Given the description of an element on the screen output the (x, y) to click on. 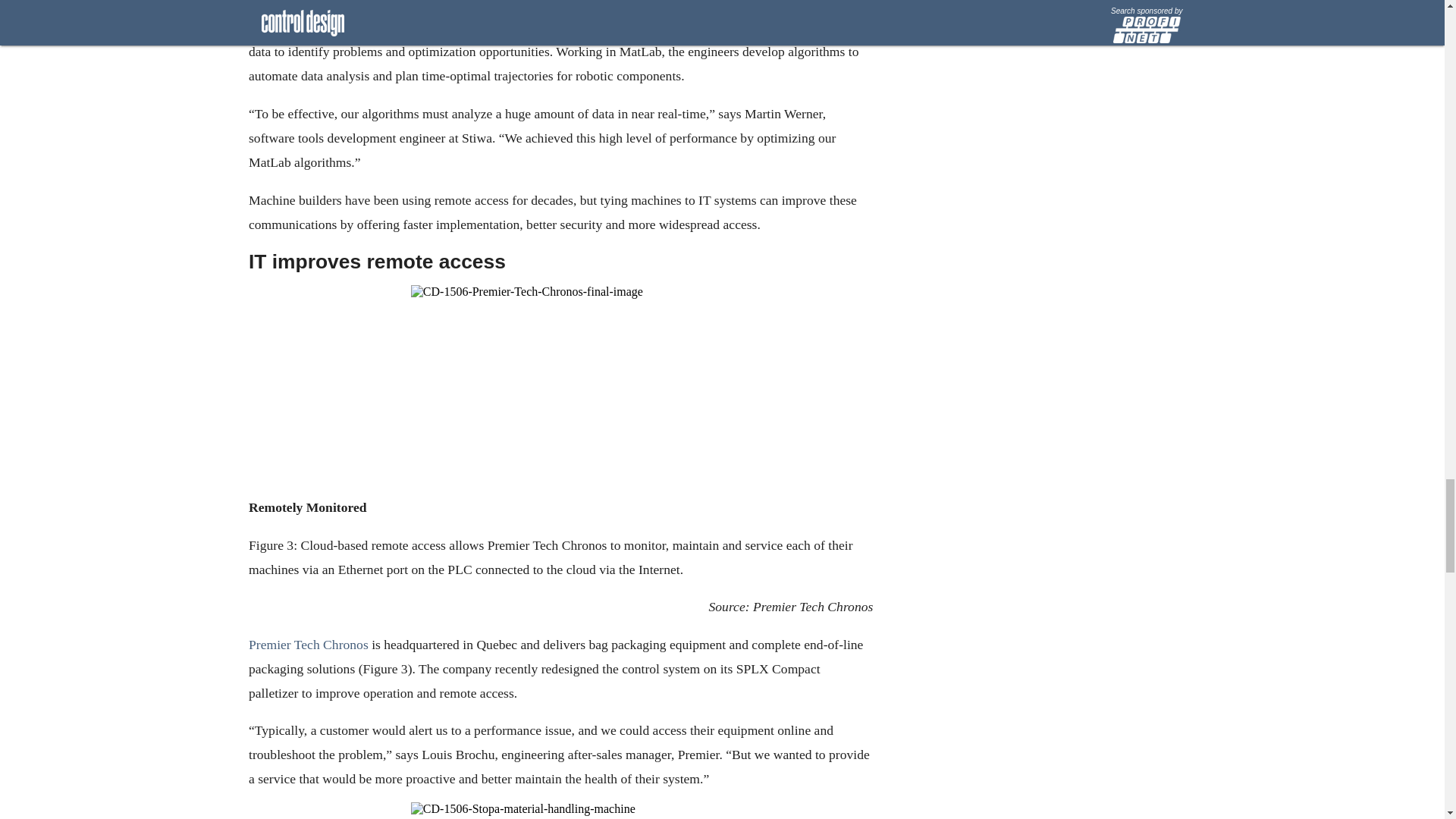
Premier Tech Chronos (308, 644)
CD-1506-Premier-Tech-Chronos-final-image (560, 386)
CD-1506-Stopa-material-handling-machine (560, 810)
